Given the description of an element on the screen output the (x, y) to click on. 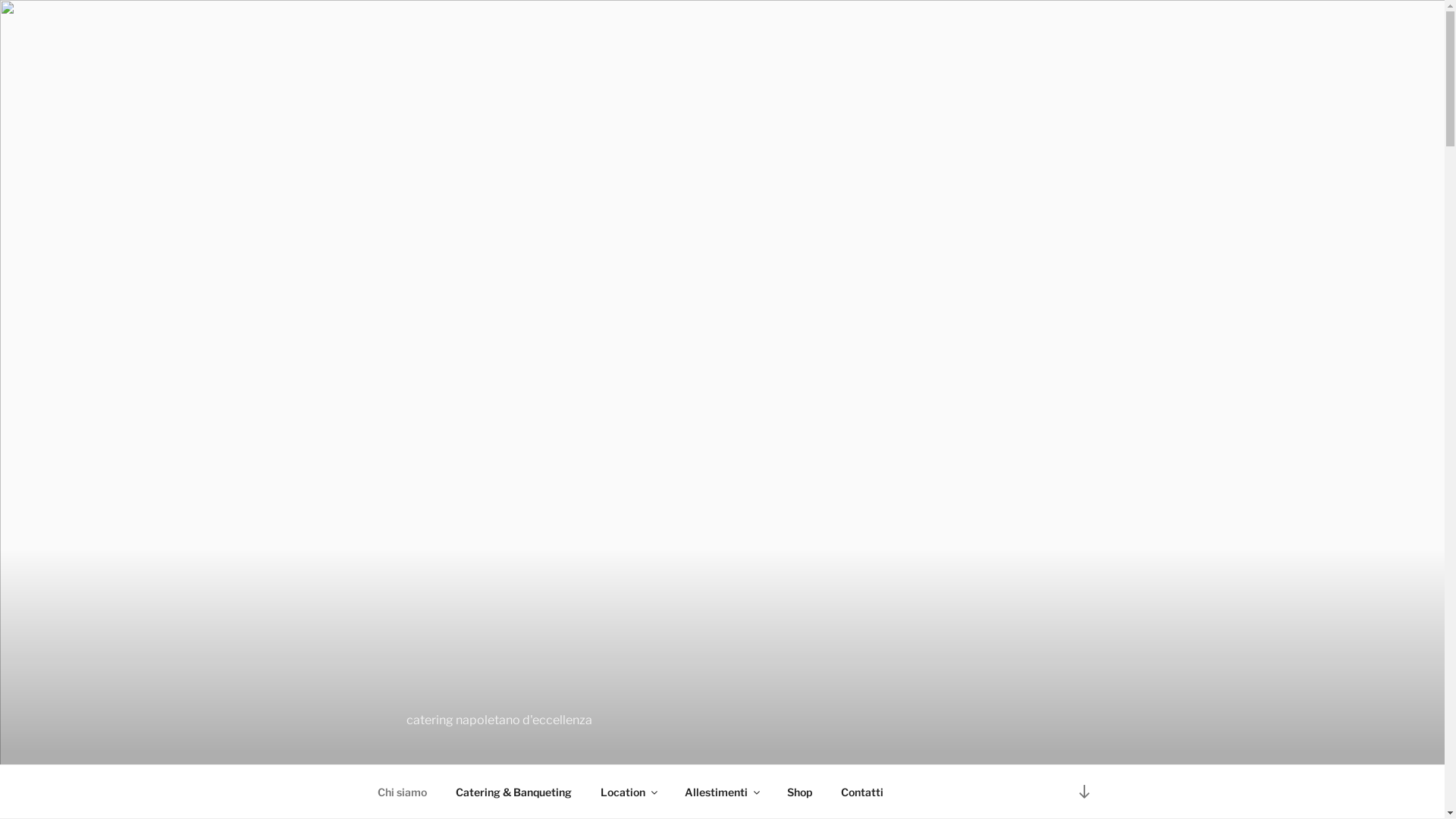
Catering & Banqueting Element type: text (513, 791)
Vai al contenuto Element type: text (1083, 790)
Shop Element type: text (799, 791)
Allestimenti Element type: text (721, 791)
Location Element type: text (627, 791)
Chi siamo Element type: text (401, 791)
Contatti Element type: text (862, 791)
